Given the description of an element on the screen output the (x, y) to click on. 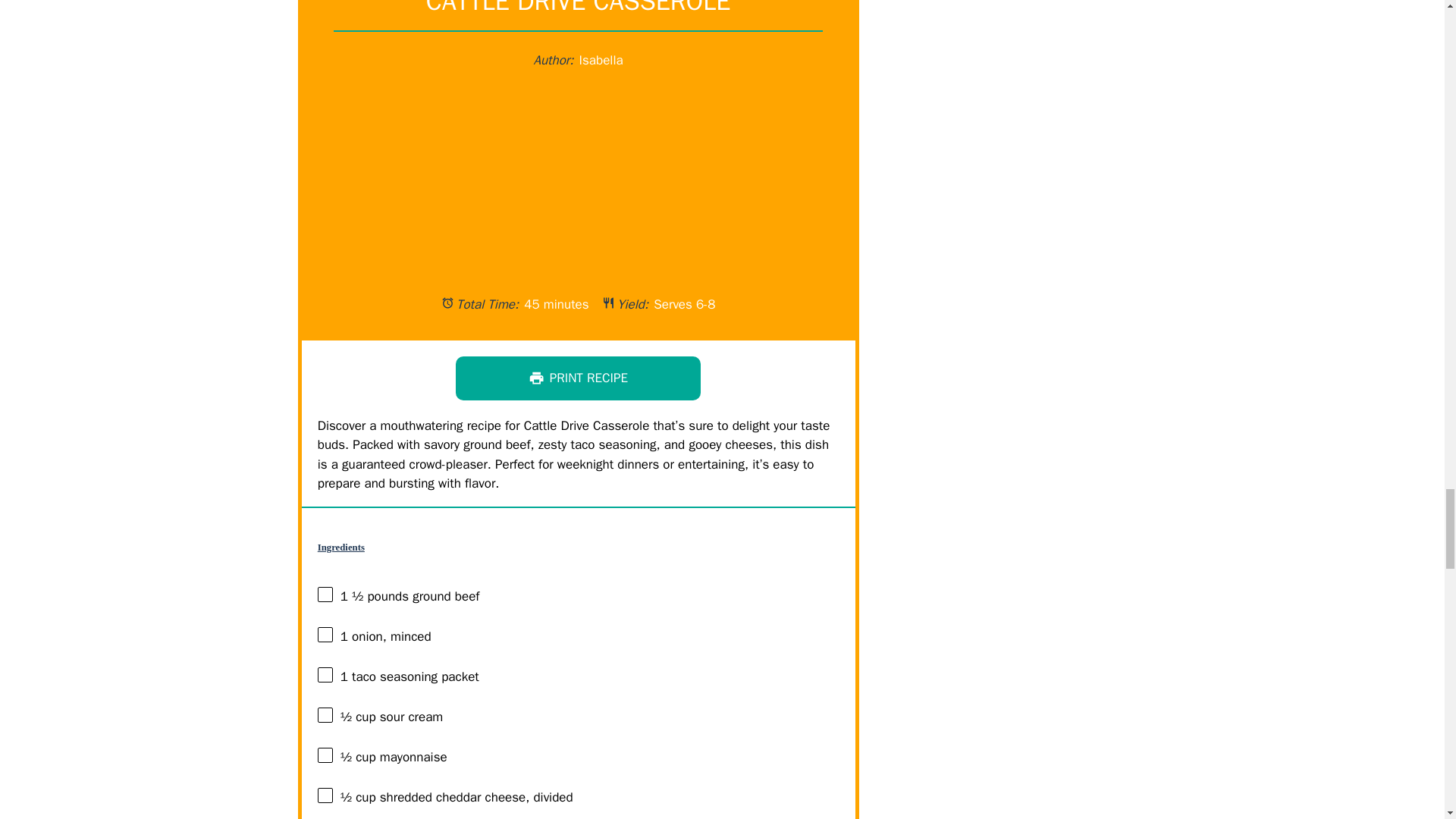
PRINT RECIPE (577, 377)
